Given the description of an element on the screen output the (x, y) to click on. 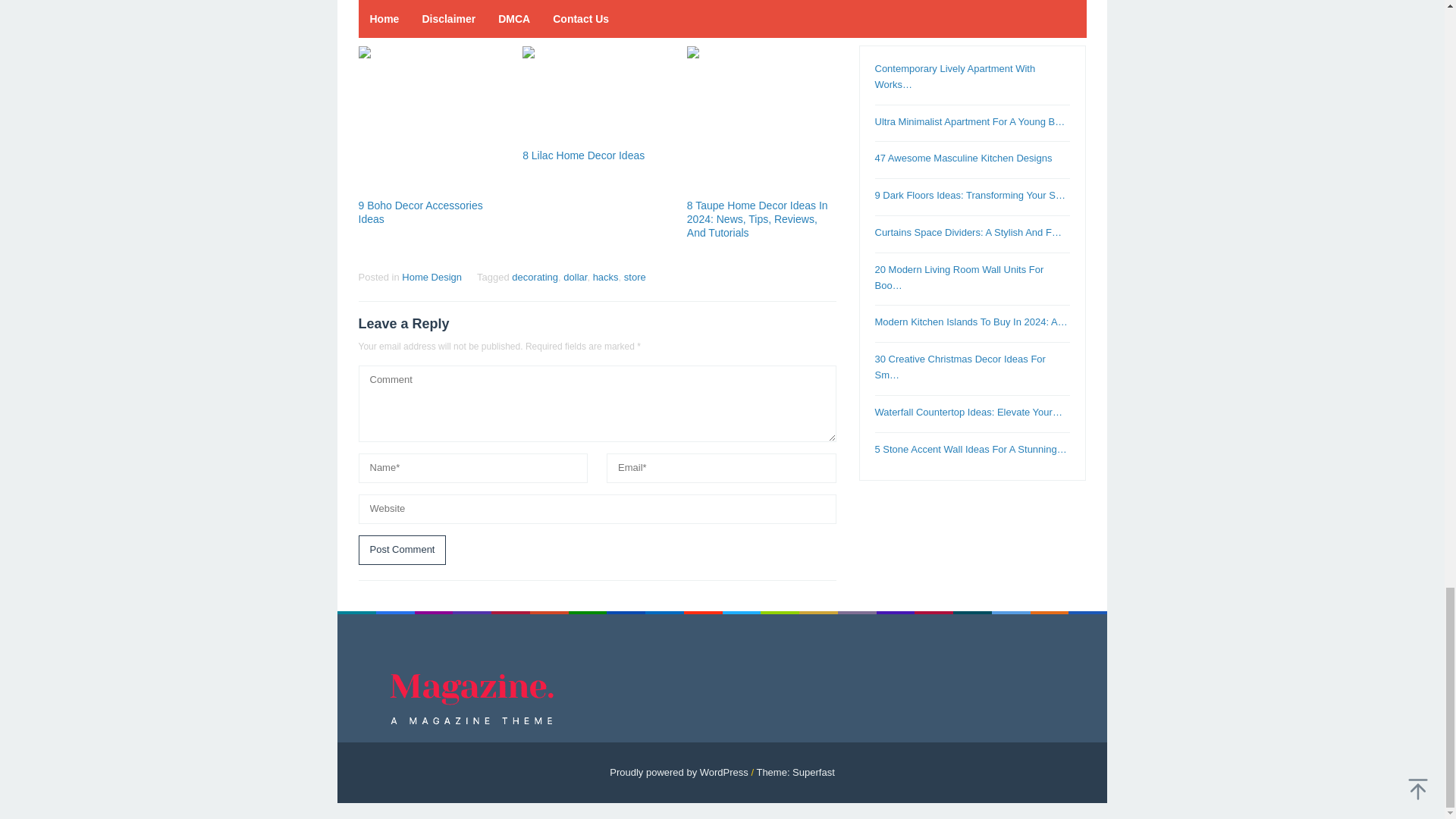
Home Design (431, 276)
Permalink to: 8 Lilac Home Decor Ideas (583, 155)
Permalink to: 9 Boho Decor Accessories Ideas (432, 120)
Permalink to: 8 Lilac Home Decor Ideas (596, 95)
dollar (574, 276)
hacks (605, 276)
8 Lilac Home Decor Ideas (583, 155)
Permalink to: 9 Boho Decor Accessories Ideas (419, 212)
Proudly powered by WordPress (679, 772)
9 Boho Decor Accessories Ideas (419, 212)
decorating (534, 276)
Post Comment (401, 550)
Post Comment (401, 550)
